Given the description of an element on the screen output the (x, y) to click on. 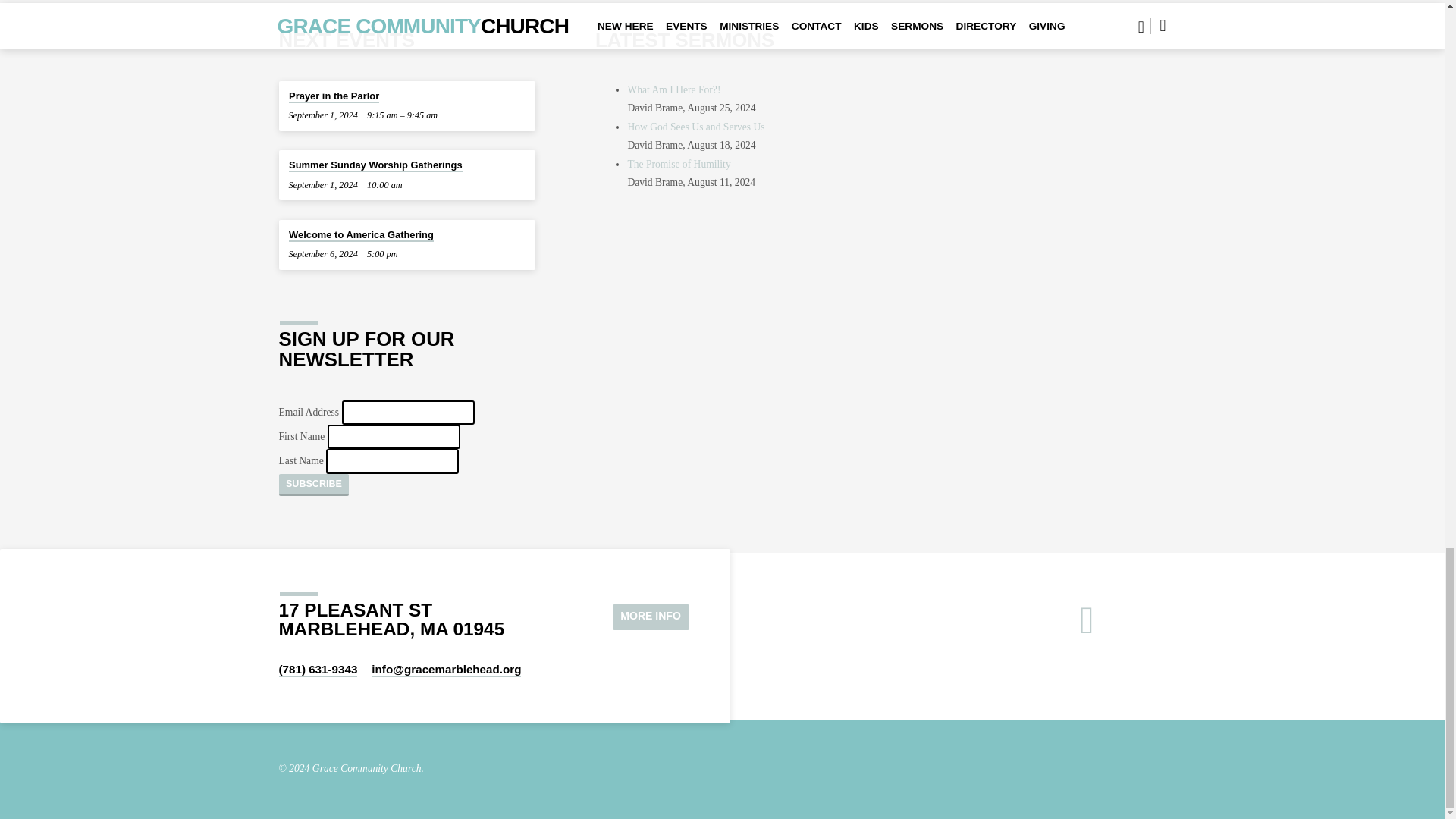
Summer Sunday Worship Gatherings (375, 164)
The Promise of Humility (678, 163)
What Am I Here For?! (673, 89)
Welcome to America Gathering (360, 235)
Prayer in the Parlor (333, 96)
How God Sees Us and Serves Us (695, 126)
Subscribe (314, 485)
